Given the description of an element on the screen output the (x, y) to click on. 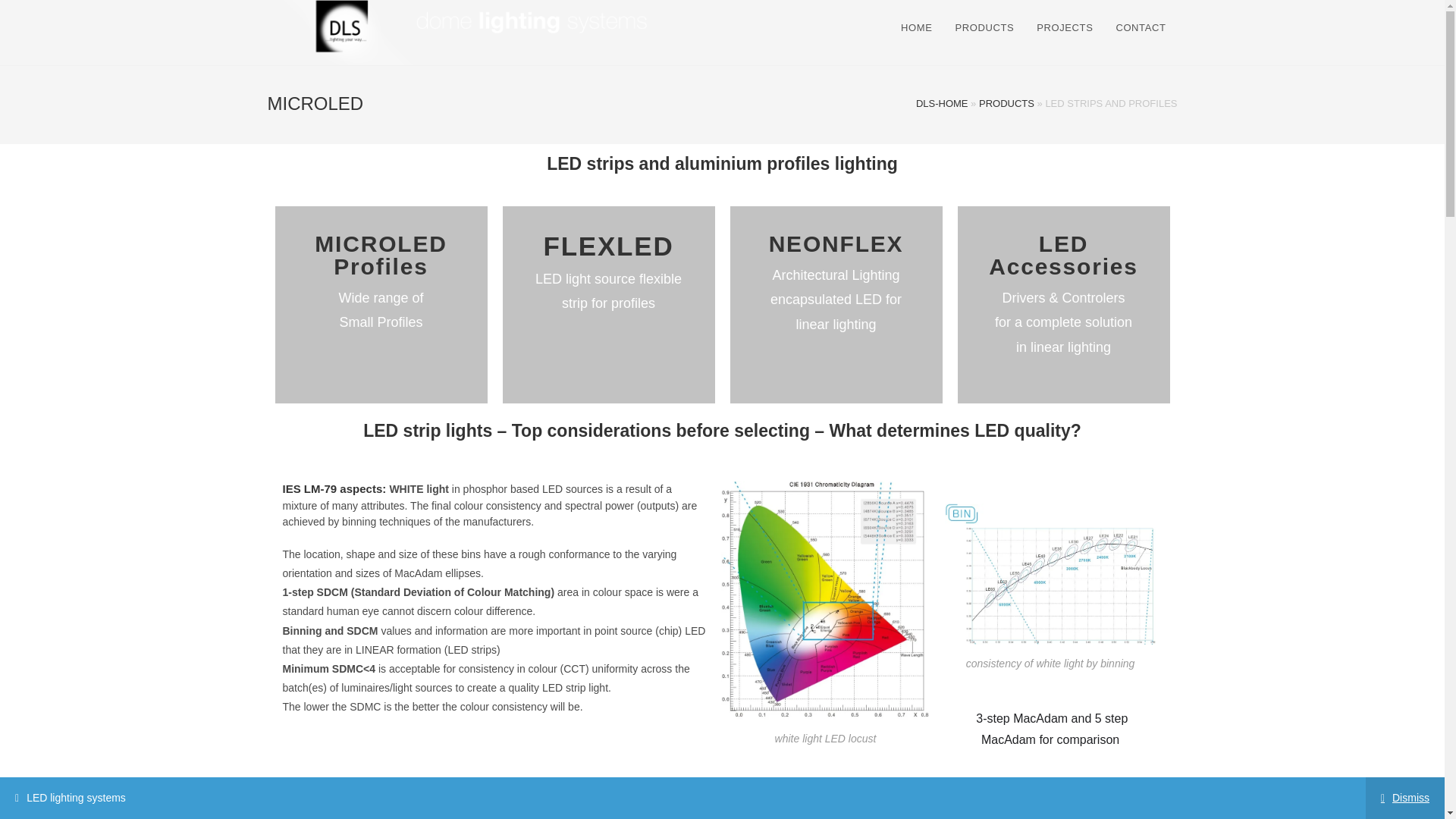
PRODUCTS (984, 28)
HOME (916, 28)
DLS-HOME (941, 102)
PROJECTS (1064, 28)
CONTACT (1139, 28)
PRODUCTS (1005, 102)
